Given the description of an element on the screen output the (x, y) to click on. 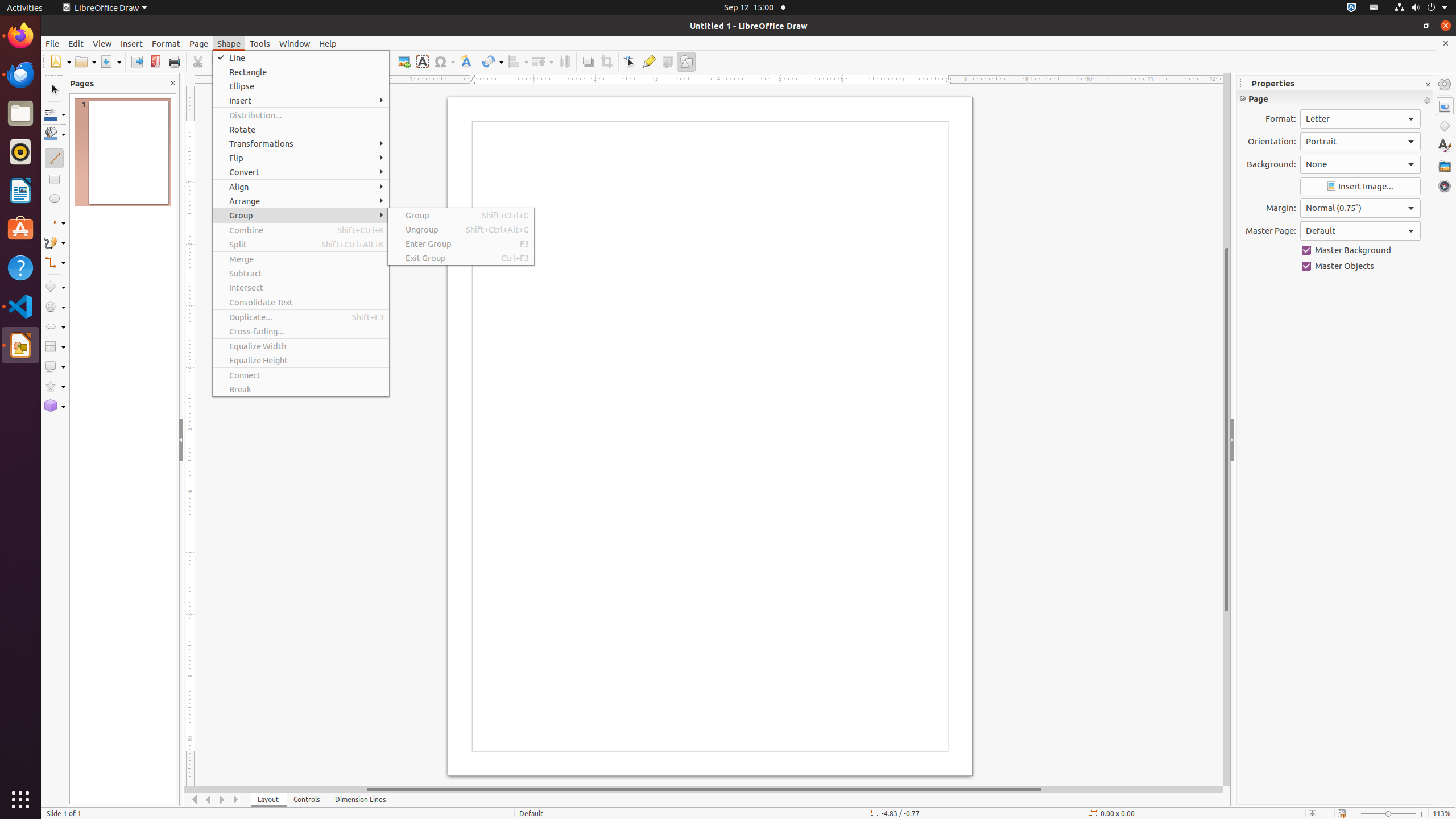
Close Pane Element type: push-button (172, 82)
Shape Element type: menu (228, 43)
Draw Functions Element type: toggle-button (685, 61)
Intersect Element type: menu-item (300, 287)
Background: Element type: combo-box (1360, 164)
